Given the description of an element on the screen output the (x, y) to click on. 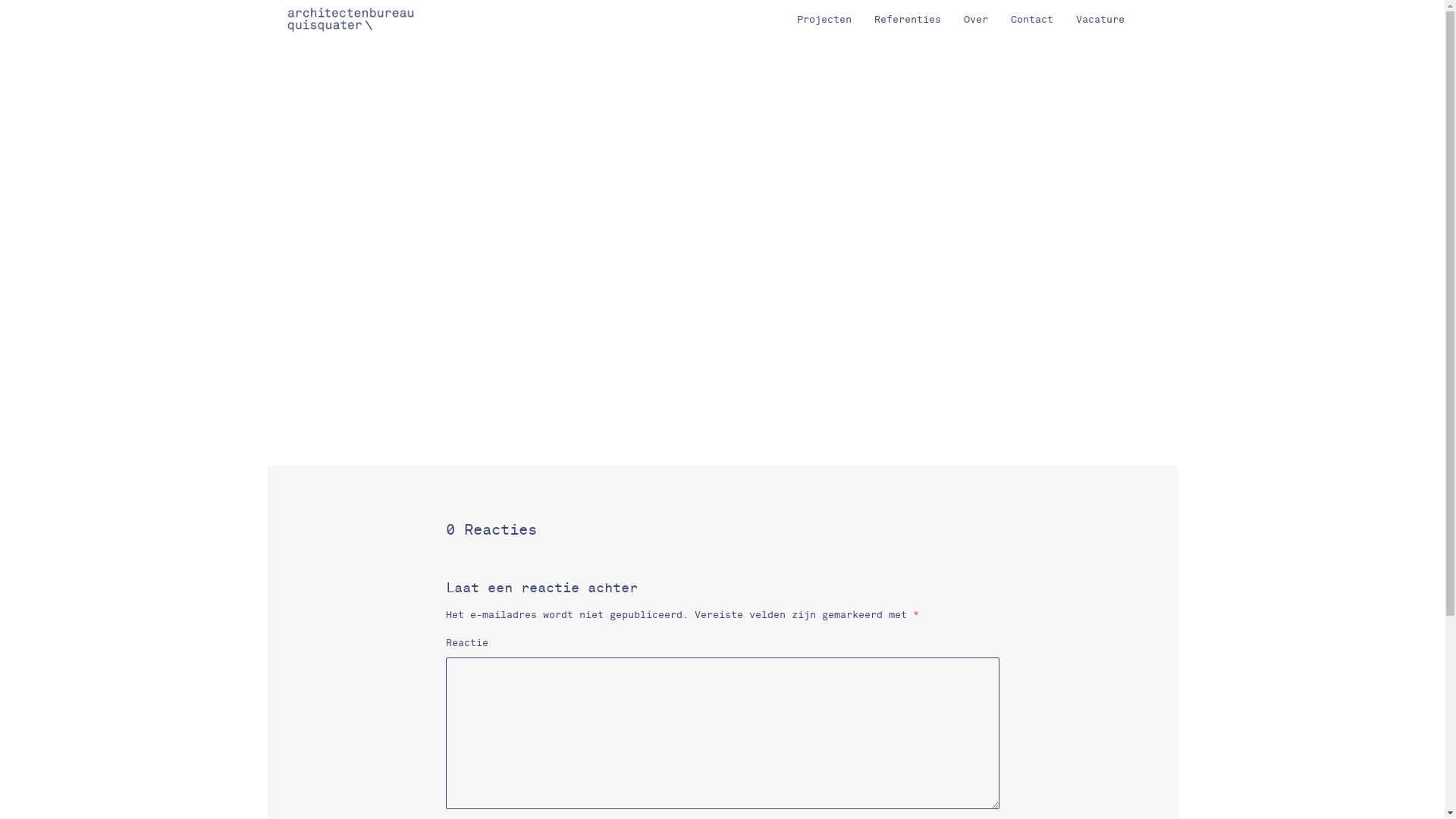
Contact Element type: text (1031, 19)
Vacature Element type: text (1099, 19)
Referenties Element type: text (907, 19)
Projecten Element type: text (823, 19)
Over Element type: text (975, 19)
